Given the description of an element on the screen output the (x, y) to click on. 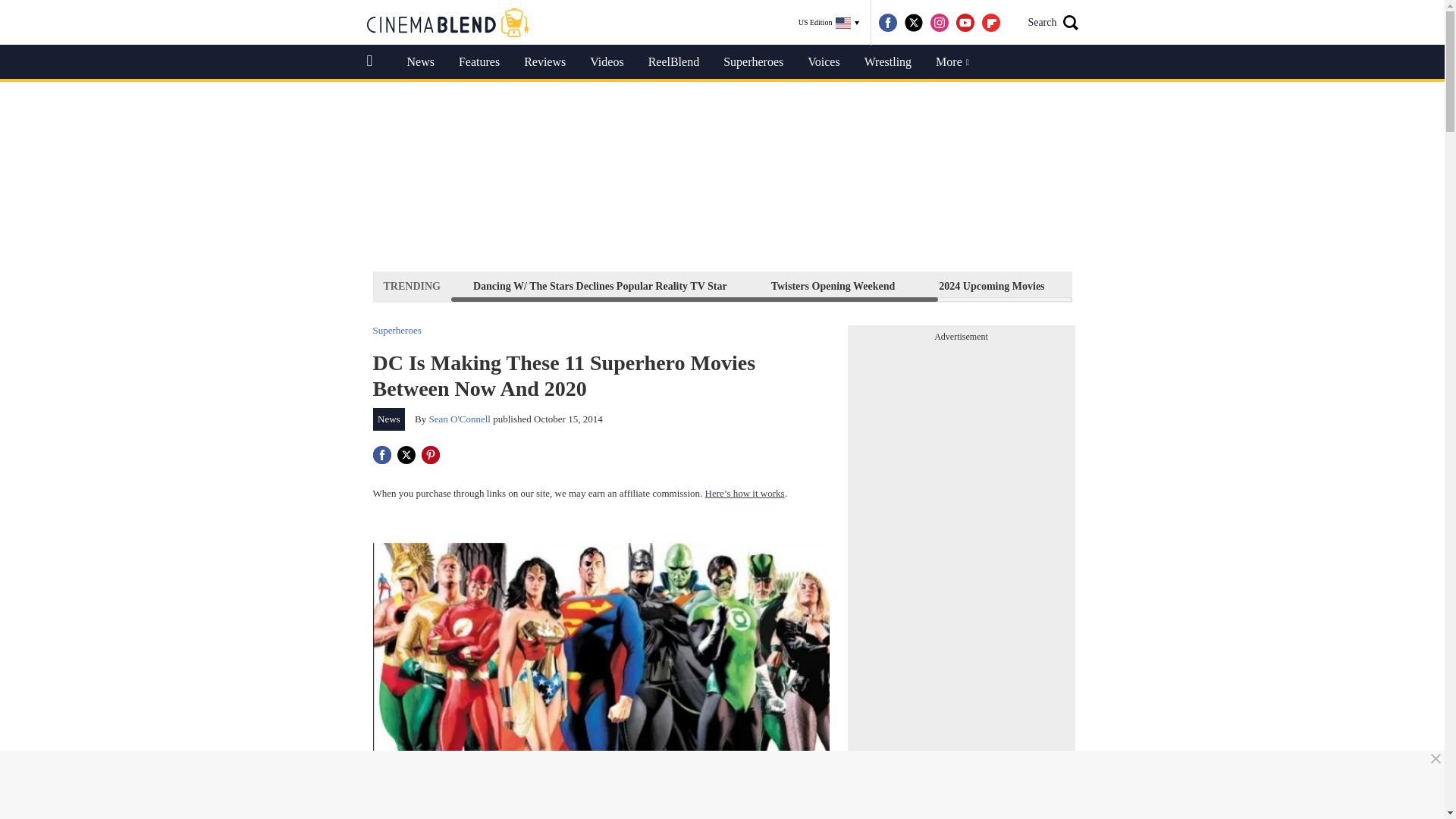
Videos (606, 61)
Twisters Opening Weekend (833, 286)
Voices (822, 61)
Reviews (545, 61)
ReelBlend (673, 61)
News (419, 61)
Wrestling (887, 61)
Superheroes (397, 329)
Superheroes (752, 61)
2024 Upcoming Movies (991, 286)
US Edition (828, 22)
